Given the description of an element on the screen output the (x, y) to click on. 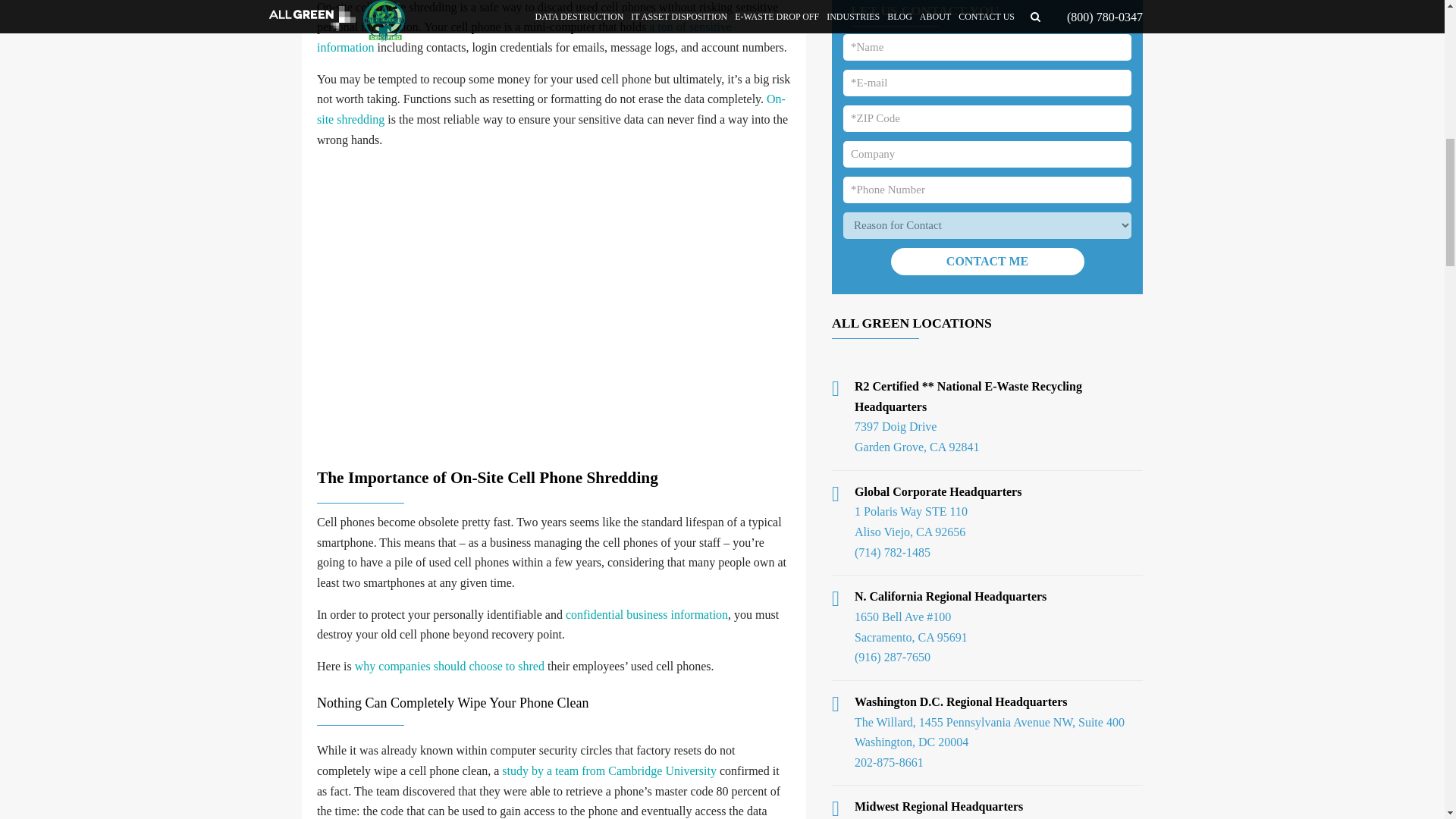
Contact Me (986, 261)
Contact Me (986, 261)
On-site shredding (551, 109)
study by a team from Cambridge University (609, 770)
a ton of sensitive information (524, 37)
confidential business information (647, 614)
why companies should choose to shred (449, 666)
